Given the description of an element on the screen output the (x, y) to click on. 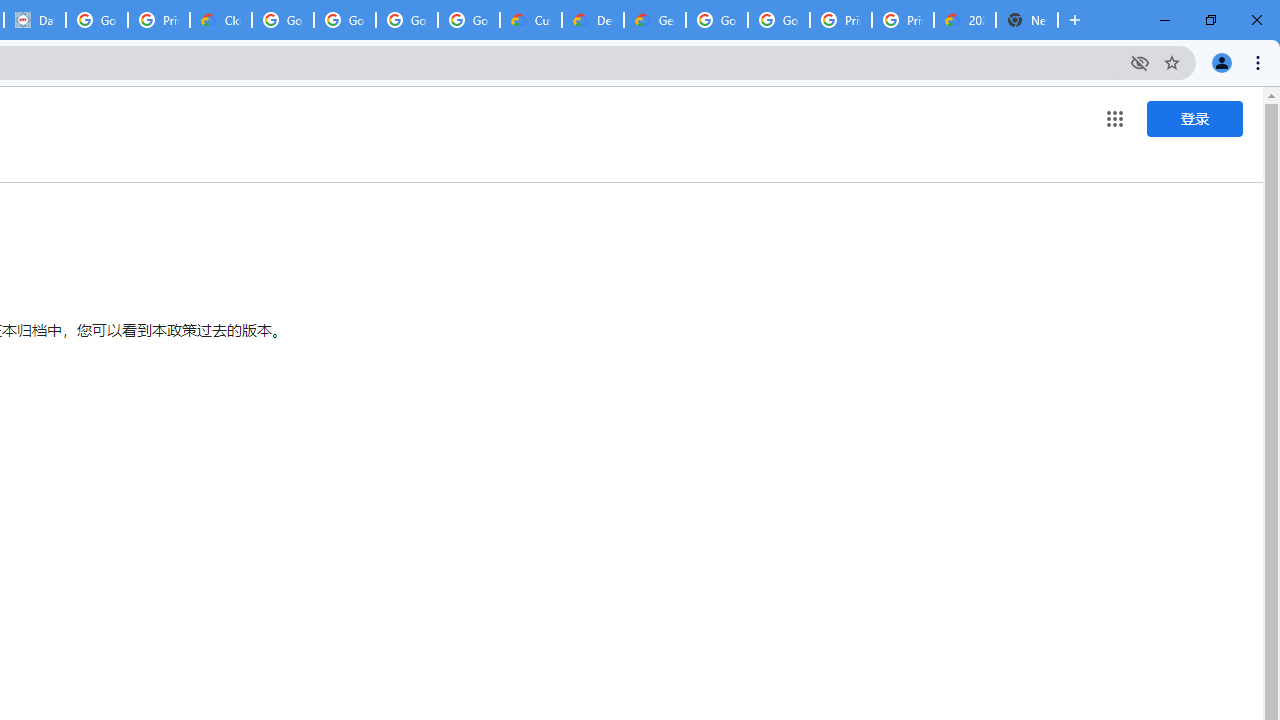
Google Cloud Platform (778, 20)
Google Workspace - Specific Terms (406, 20)
Customer Care | Google Cloud (530, 20)
